Given the description of an element on the screen output the (x, y) to click on. 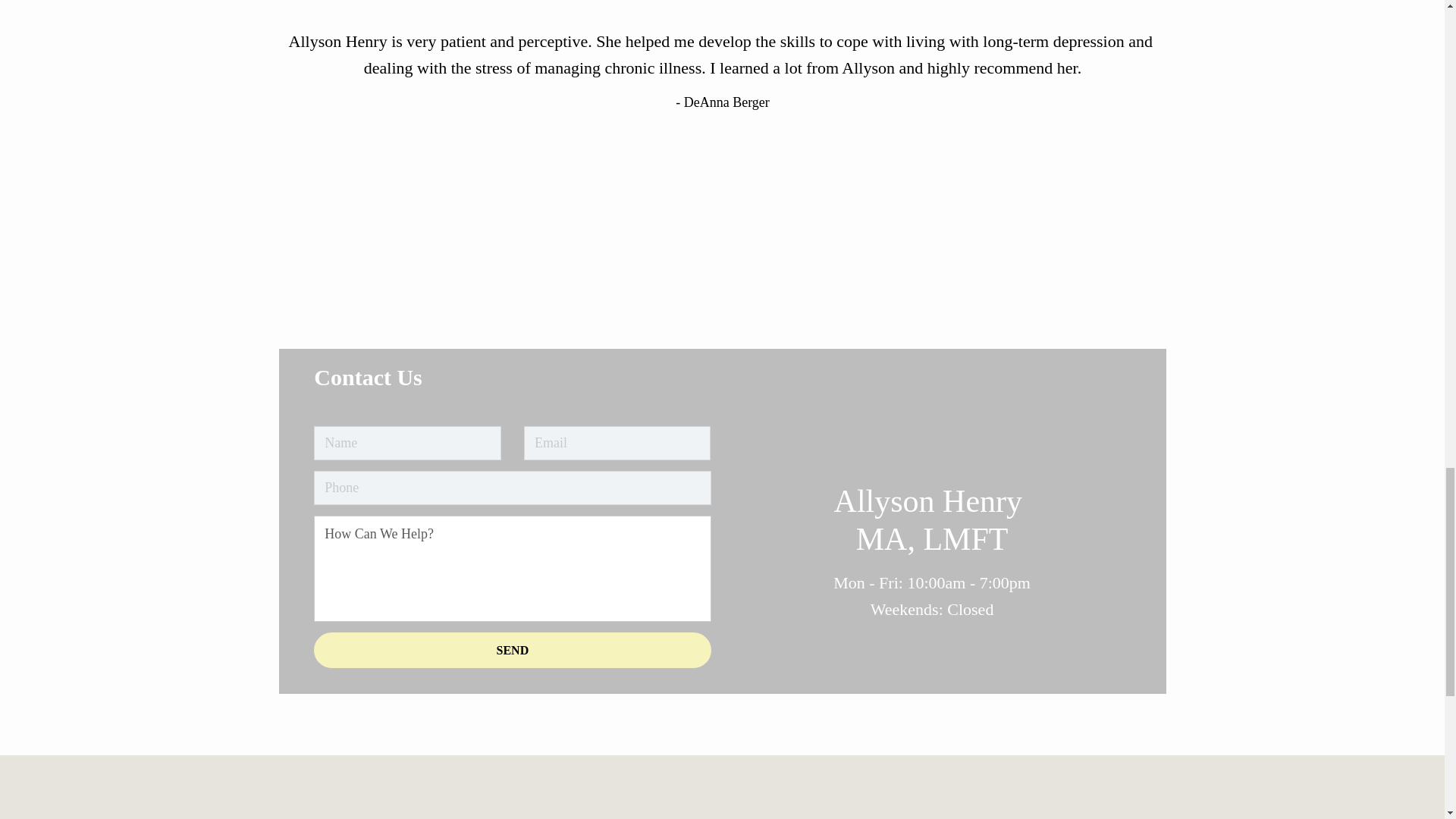
SEND (512, 650)
